Given the description of an element on the screen output the (x, y) to click on. 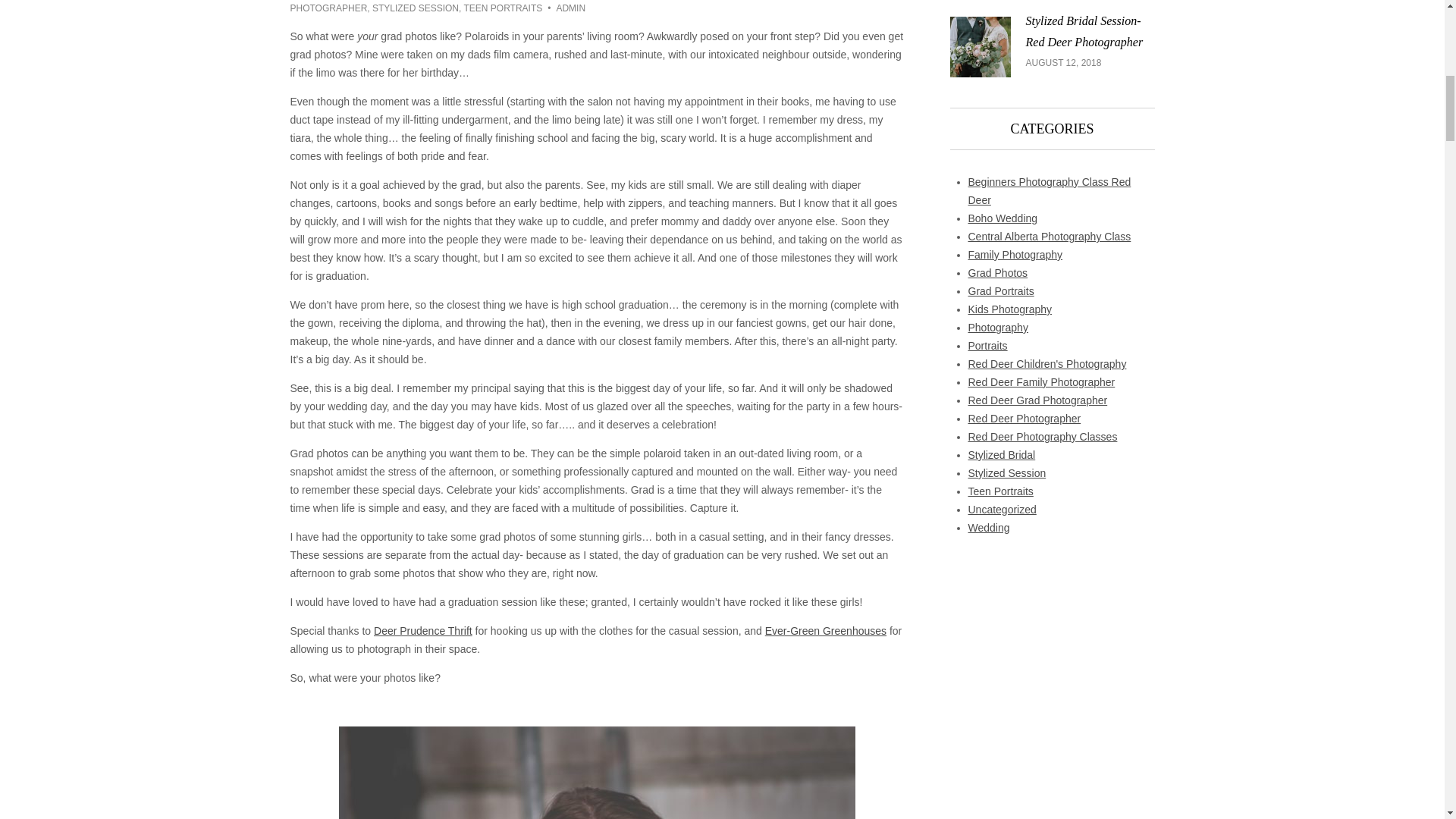
Post author (563, 8)
Red Deer Children's Photography (1046, 363)
Red Deer Photographer (1024, 418)
Red Deer Grad Photographer (1037, 399)
Red Deer Family Photographer (1041, 381)
Boho Wedding (1002, 218)
Kids Photography (1009, 309)
Ever-Green Greenhouses (825, 630)
Grad Portraits (1000, 291)
Grad Photos (997, 272)
TEEN PORTRAITS (502, 8)
Beginners Photography Class Red Deer (1049, 191)
Deer Prudence Thrift (422, 630)
Central Alberta Photography Class (1049, 236)
Portraits (987, 345)
